Given the description of an element on the screen output the (x, y) to click on. 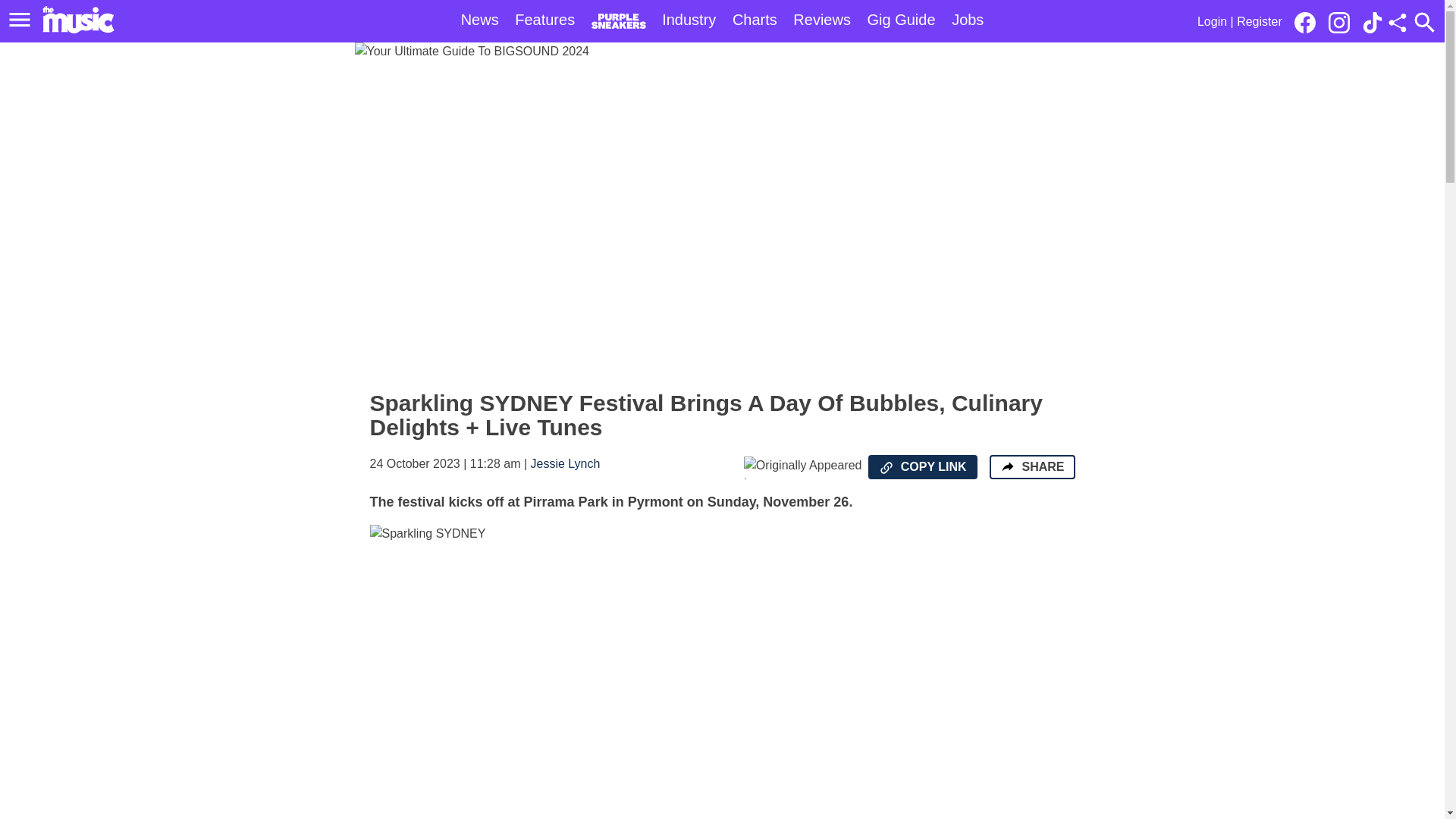
Share the page (1007, 466)
Open the main menu (19, 19)
Open the site search menu (1424, 22)
Register (1259, 21)
Open the main menu (22, 19)
Link to our Facebook (1309, 21)
Link to our Facebook (1305, 22)
Share this page (1397, 22)
Login (1211, 21)
Jobs (968, 19)
